Given the description of an element on the screen output the (x, y) to click on. 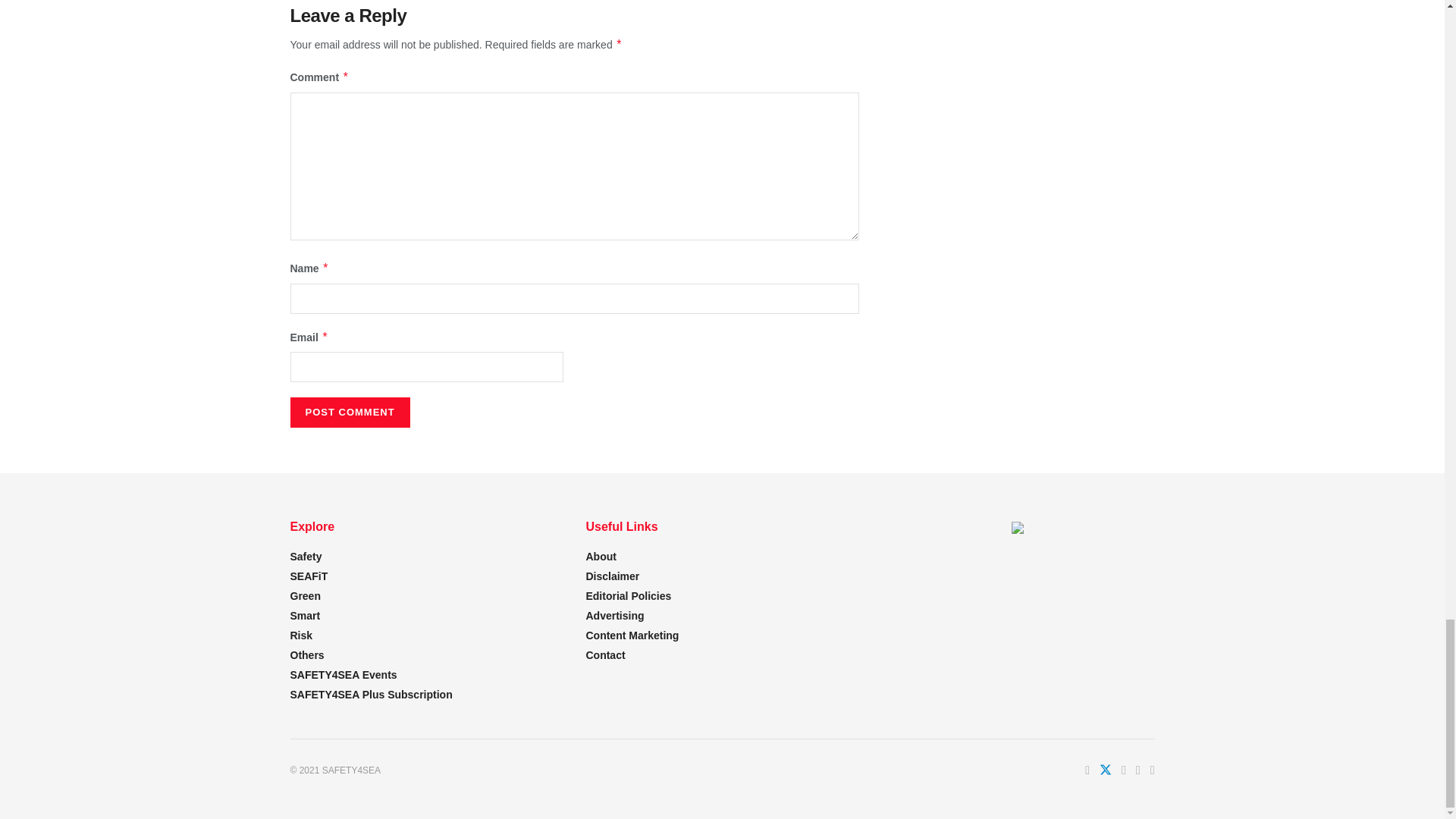
Post Comment (349, 412)
